Given the description of an element on the screen output the (x, y) to click on. 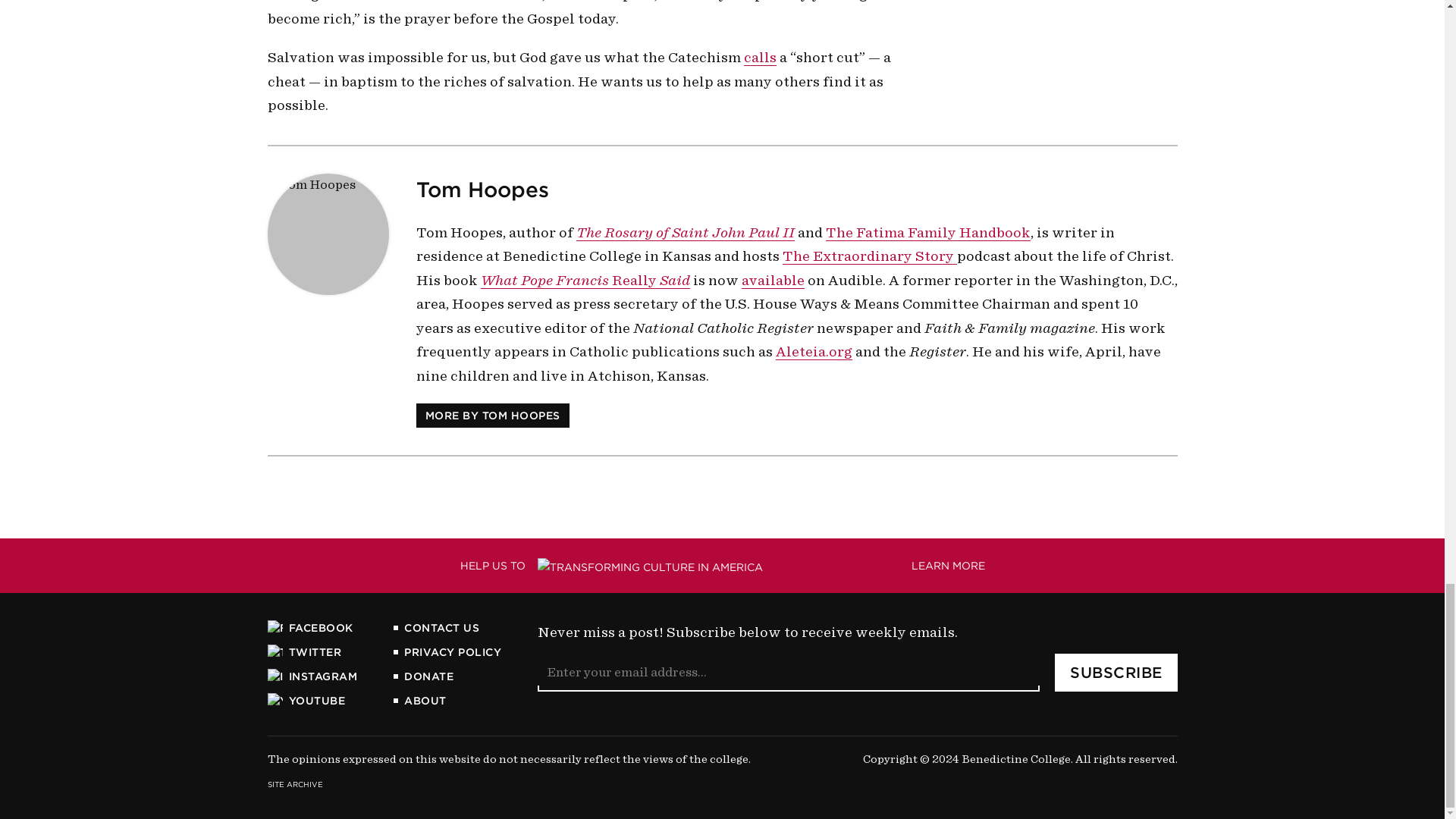
Subscribe (1115, 672)
available (773, 279)
calls (759, 57)
Aleteia.org (812, 351)
Subscribe (1115, 672)
The Rosary of Saint John Paul II (685, 232)
FACEBOOK (721, 565)
TWITTER (311, 627)
MORE BY TOM HOOPES (311, 652)
The Extraordinary Story (491, 415)
What Pope Francis Really Said (869, 256)
The Fatima Family Handbook (585, 279)
